Given the description of an element on the screen output the (x, y) to click on. 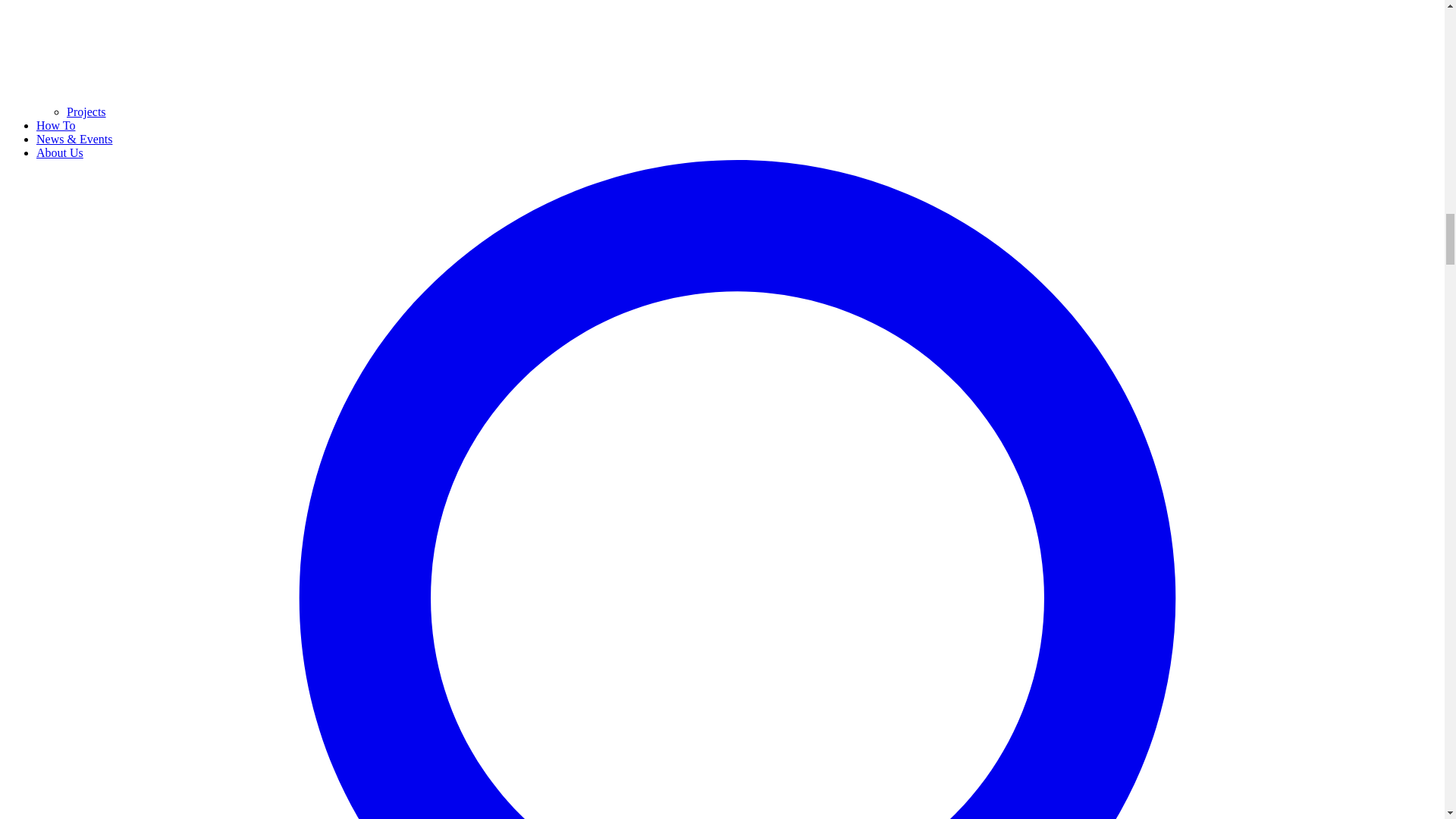
How To (55, 124)
About Us (59, 152)
About UCSF IT (59, 152)
Projects (86, 111)
